Given the description of an element on the screen output the (x, y) to click on. 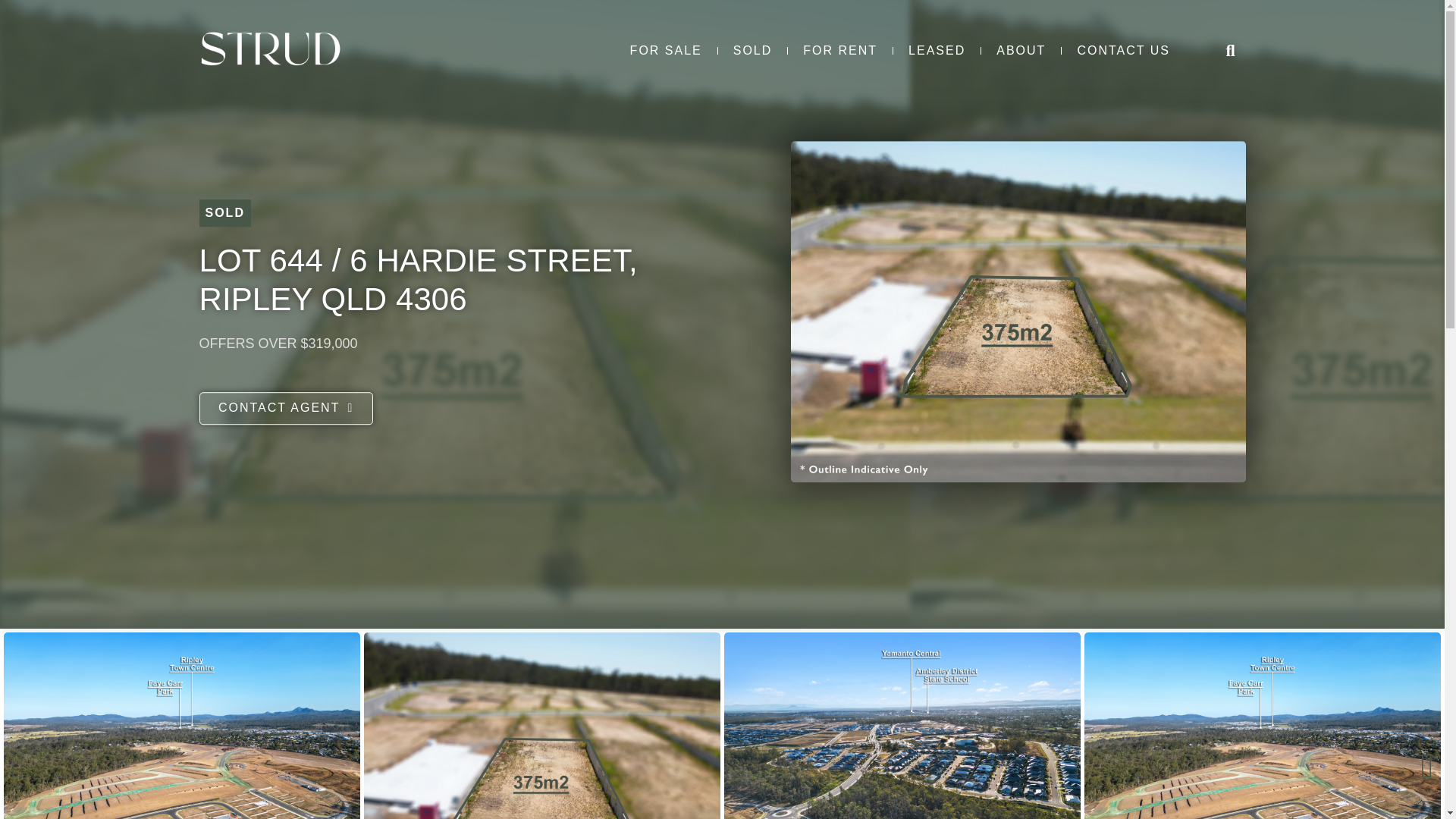
FOR RENT (839, 50)
CONTACT AGENT (285, 409)
ABOUT (1021, 50)
FOR SALE (665, 50)
LEASED (936, 50)
SOLD (752, 50)
CONTACT US (1123, 50)
